Given the description of an element on the screen output the (x, y) to click on. 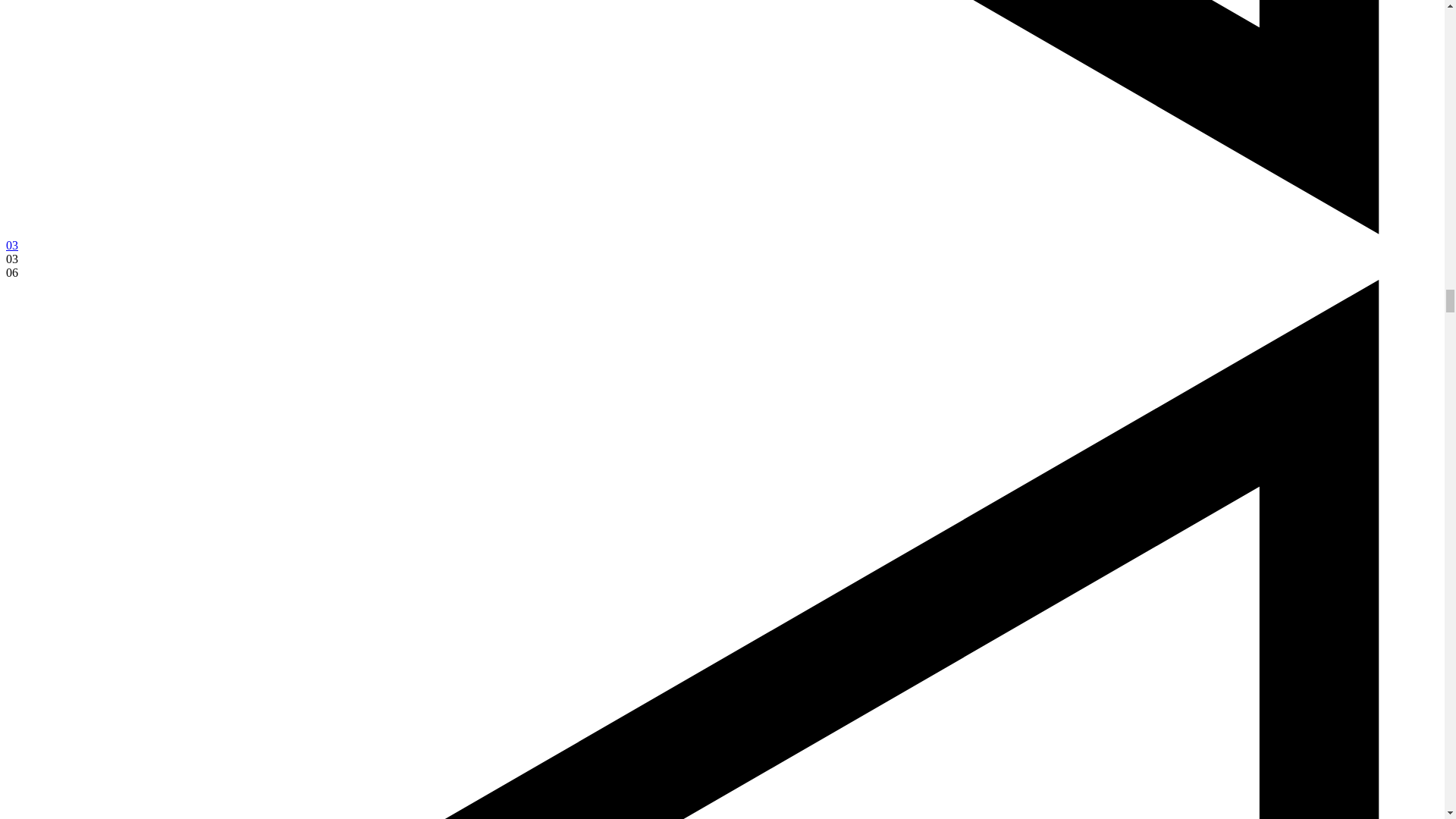
03 (11, 245)
